Given the description of an element on the screen output the (x, y) to click on. 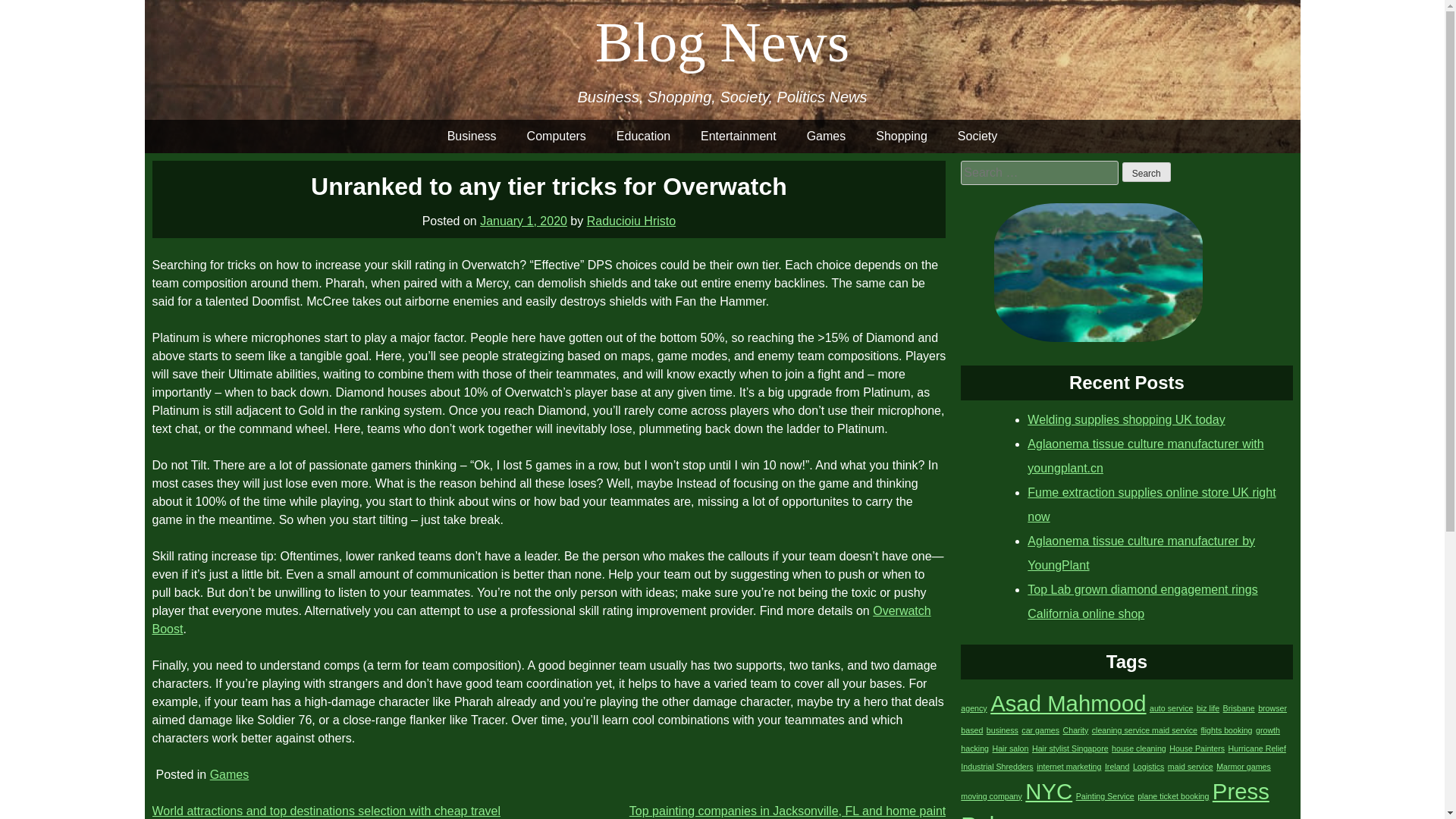
Search (1146, 171)
Raducioiu Hristo (630, 219)
flights booking (1225, 729)
Industrial Shredders (996, 766)
agency (973, 707)
business (1002, 729)
auto service (1171, 707)
house cleaning (1139, 747)
Hair stylist Singapore (1070, 747)
Welding supplies shopping UK today (1125, 419)
Games (228, 773)
Business (472, 136)
Overwatch Boost (540, 618)
Fume extraction supplies online store UK right now (1151, 504)
